Given the description of an element on the screen output the (x, y) to click on. 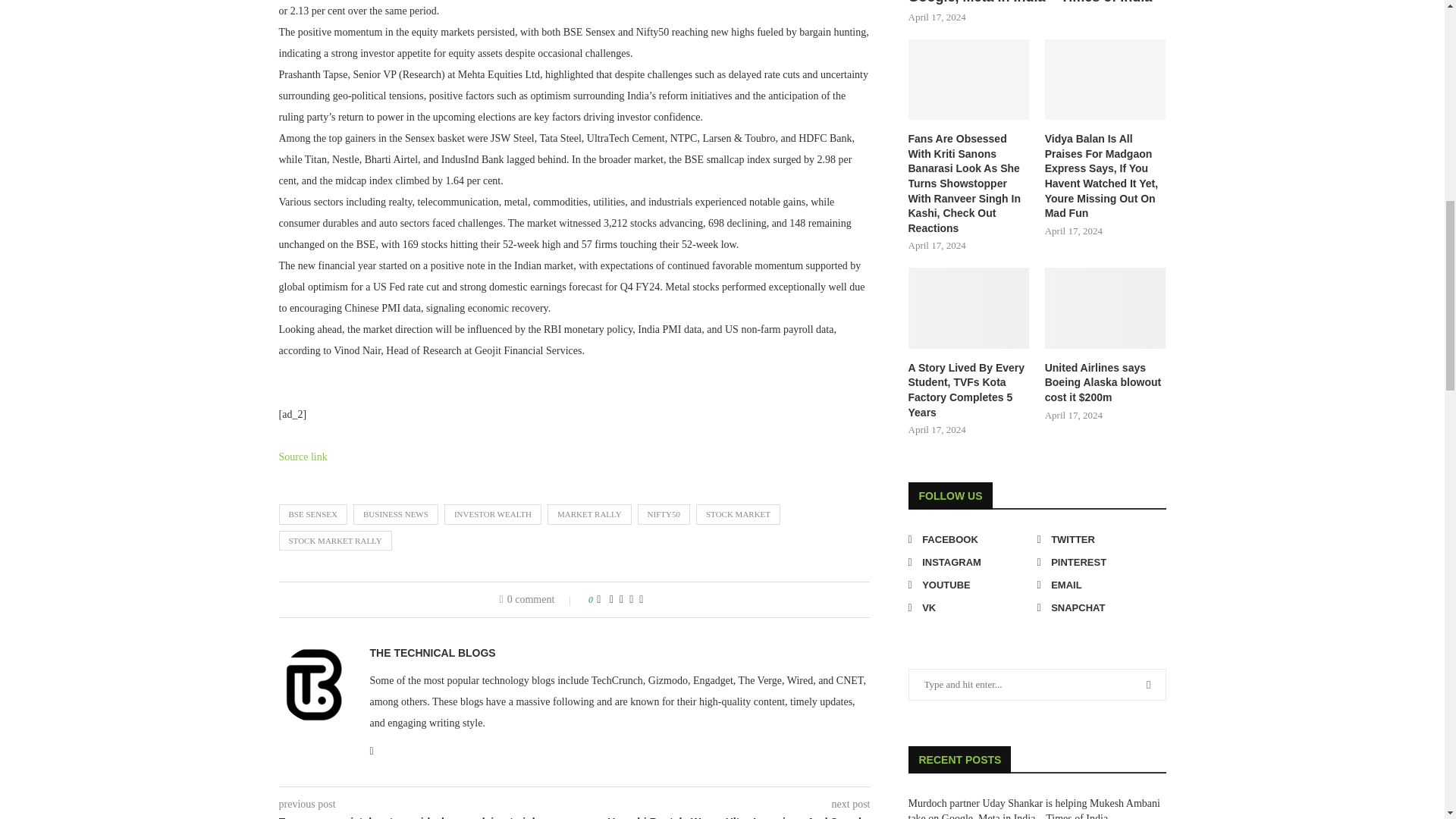
Author The Technical Blogs (432, 653)
